Given the description of an element on the screen output the (x, y) to click on. 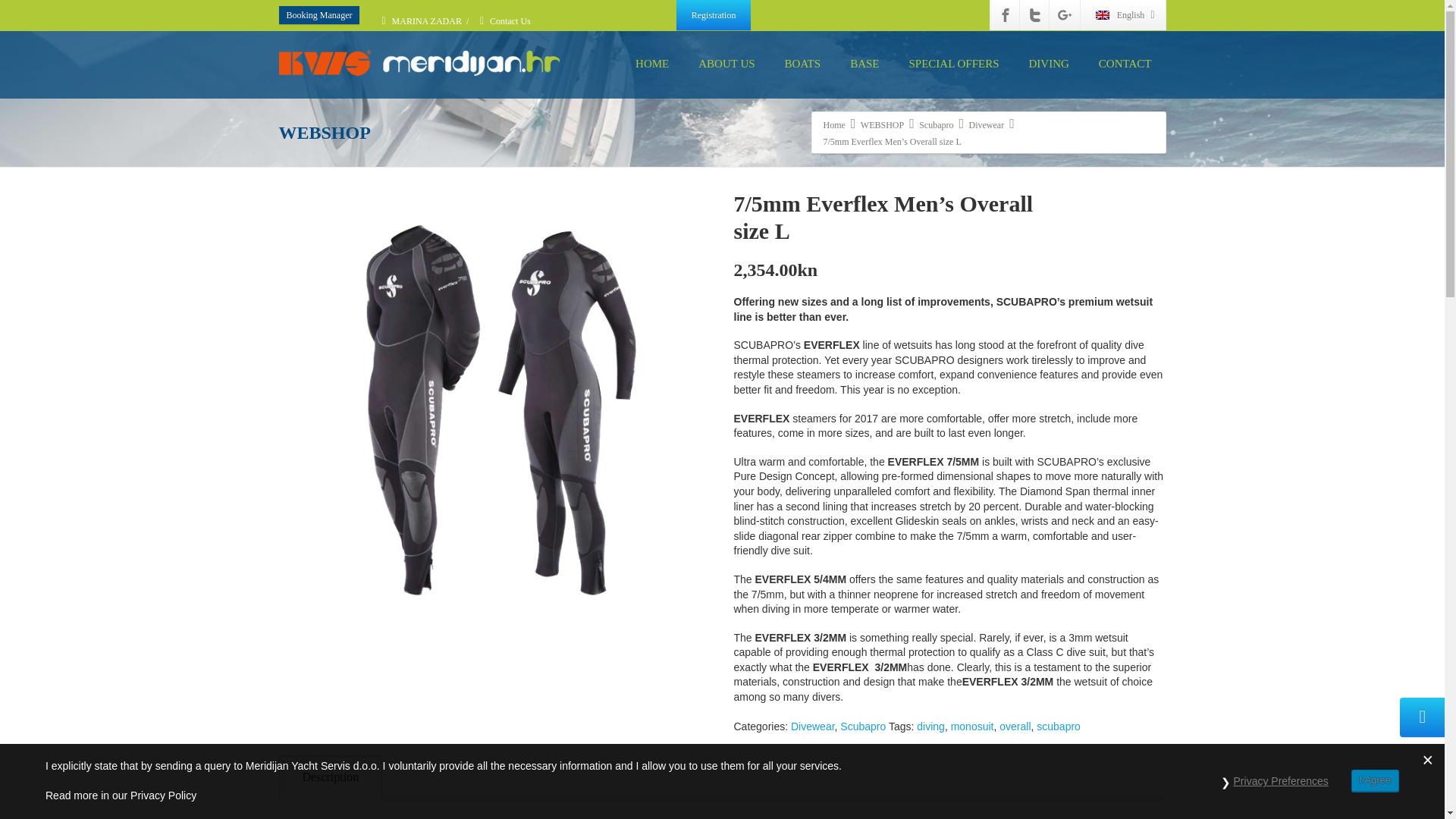
Contact Us (509, 20)
Home (834, 123)
diving (930, 726)
ABOUT US (726, 64)
DIVING (1048, 64)
Registration (714, 15)
monosuit (972, 726)
scubapro (1058, 726)
English (1123, 15)
BOATS (802, 64)
BASE (864, 64)
SPECIAL OFFERS (953, 64)
overall (1014, 726)
Twitter (1034, 15)
CONTACT (1125, 64)
